Given the description of an element on the screen output the (x, y) to click on. 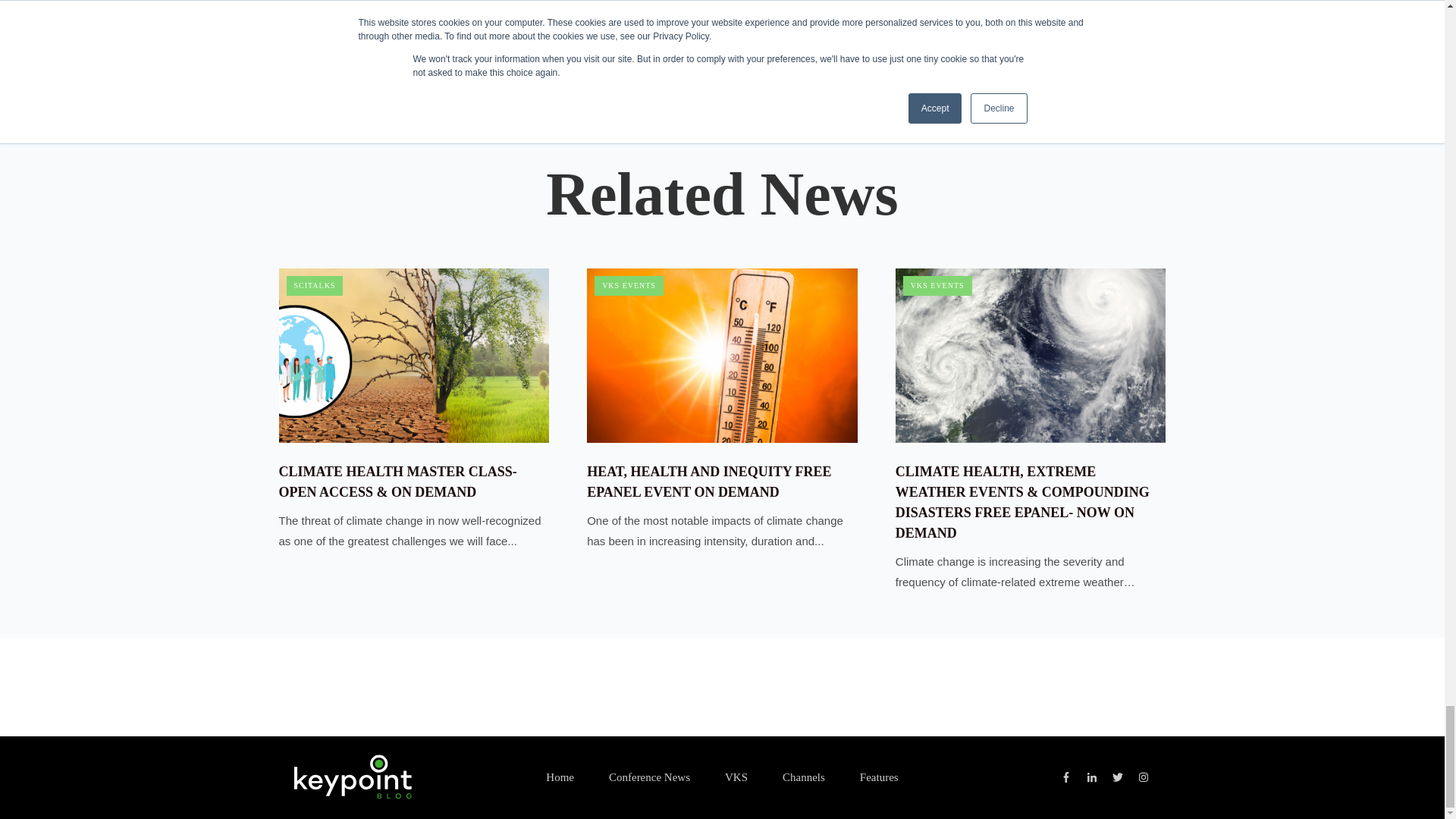
Keypoint-Logo-Blog-REVERSE (353, 777)
